Given the description of an element on the screen output the (x, y) to click on. 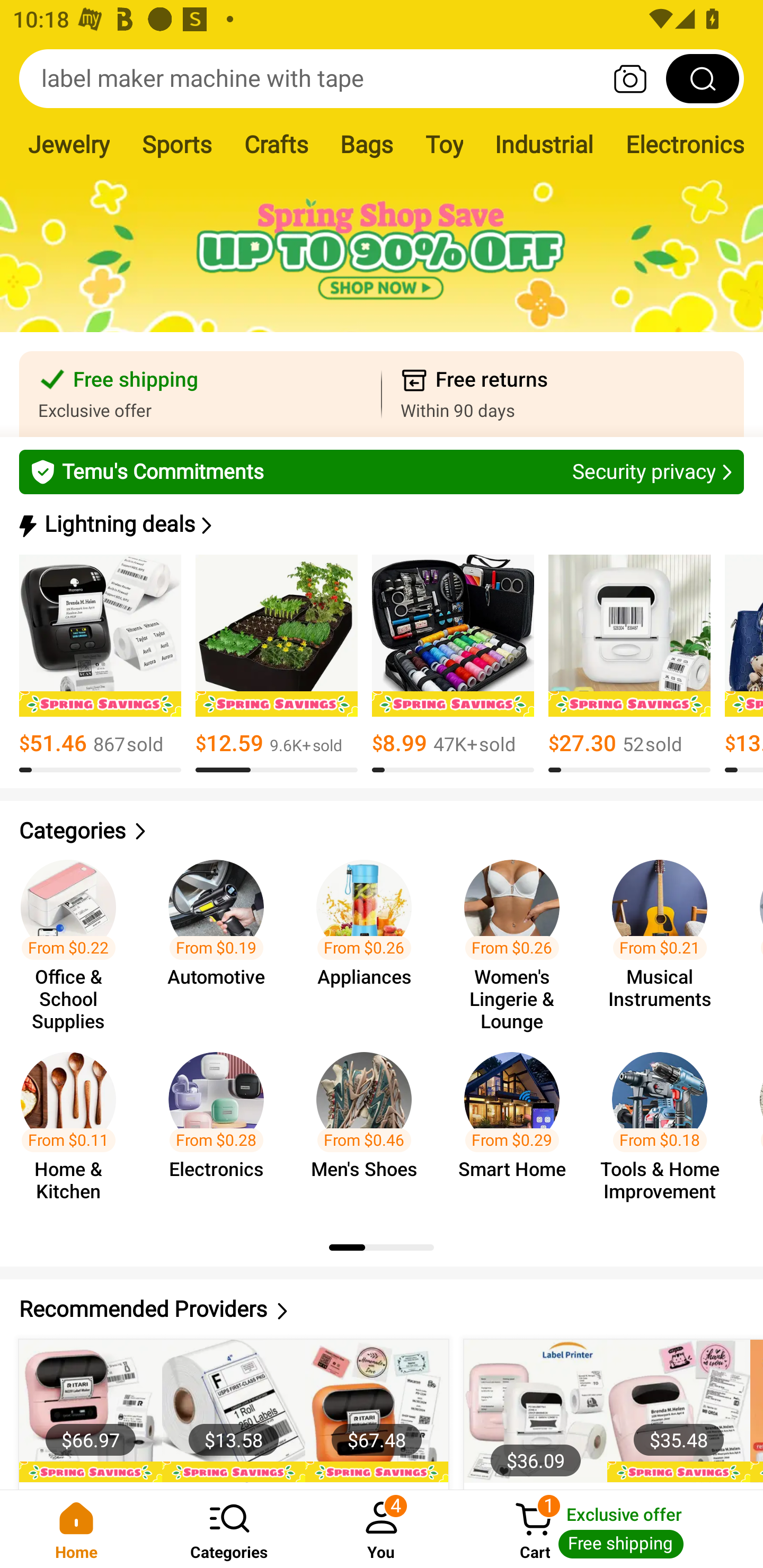
label maker machine with tape (381, 78)
Jewelry (68, 144)
Sports (176, 144)
Crafts (276, 144)
Bags (366, 144)
Toy (443, 144)
Industrial (544, 144)
Electronics (684, 144)
Free shipping Exclusive offer (200, 394)
Free returns Within 90 days (562, 394)
Temu's Commitments (381, 471)
Lightning deals (379, 524)
$51.46 867￼sold 8.0 (100, 664)
$12.59 9.6K+￼sold 35.0 (276, 664)
$8.99 47K+￼sold 8.0 (453, 664)
$27.30 52￼sold 8.0 (629, 664)
Categories (381, 830)
From $0.22 Office & School Supplies (74, 936)
From $0.19 Automotive (222, 936)
From $0.26 Appliances (369, 936)
From $0.26 Women's Lingerie & Lounge (517, 936)
From $0.21 Musical Instruments (665, 936)
From $0.11 Home & Kitchen (74, 1128)
From $0.28 Electronics (222, 1128)
From $0.46 Men's Shoes (369, 1128)
From $0.29 Smart Home (517, 1128)
From $0.18 Tools & Home Improvement (665, 1128)
Recommended Providers (381, 1309)
Home (76, 1528)
Categories (228, 1528)
You 4 You (381, 1528)
Cart 1 Cart Exclusive offer (610, 1528)
